Given the description of an element on the screen output the (x, y) to click on. 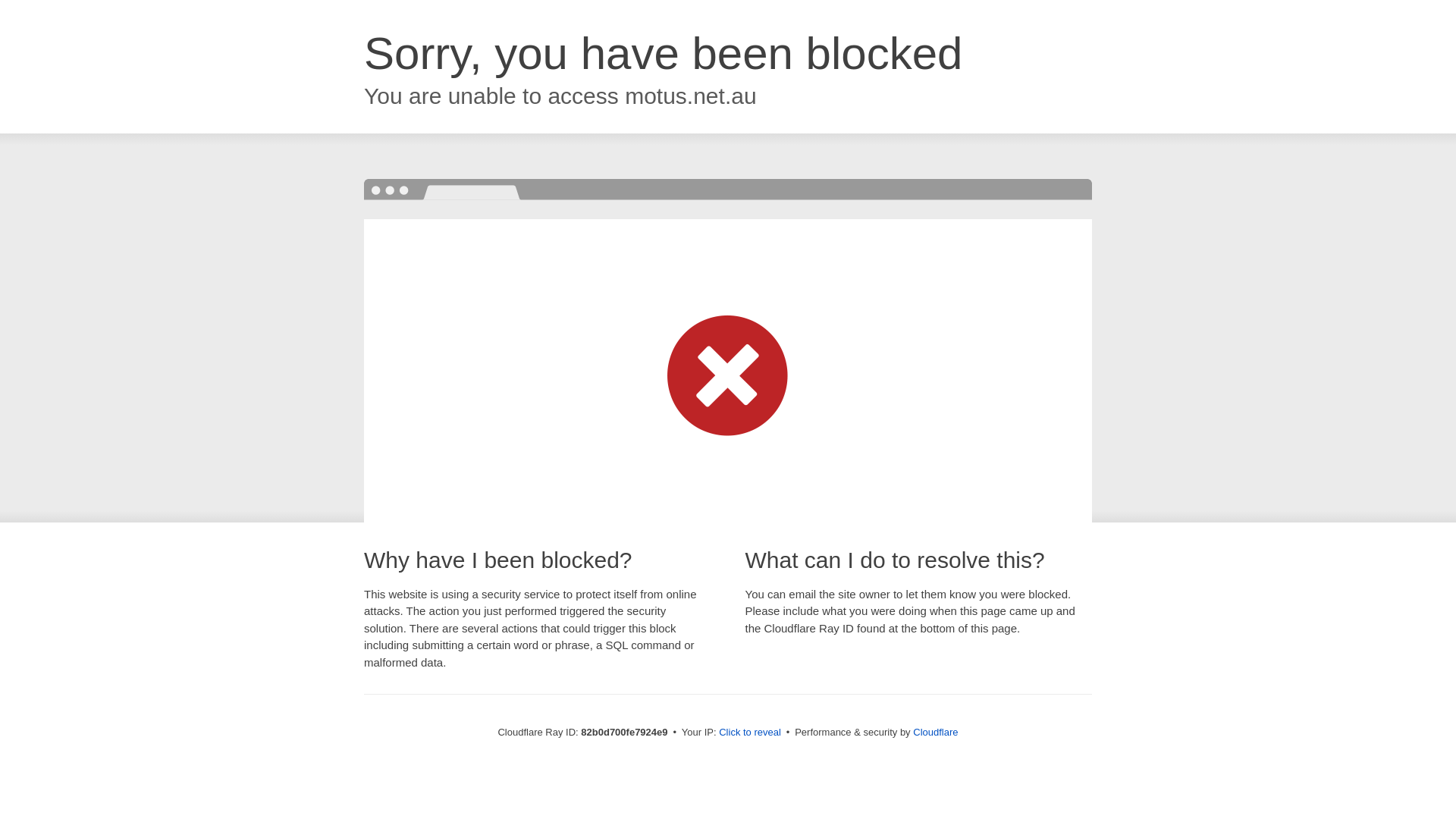
Click to reveal Element type: text (749, 732)
Cloudflare Element type: text (935, 731)
